Given the description of an element on the screen output the (x, y) to click on. 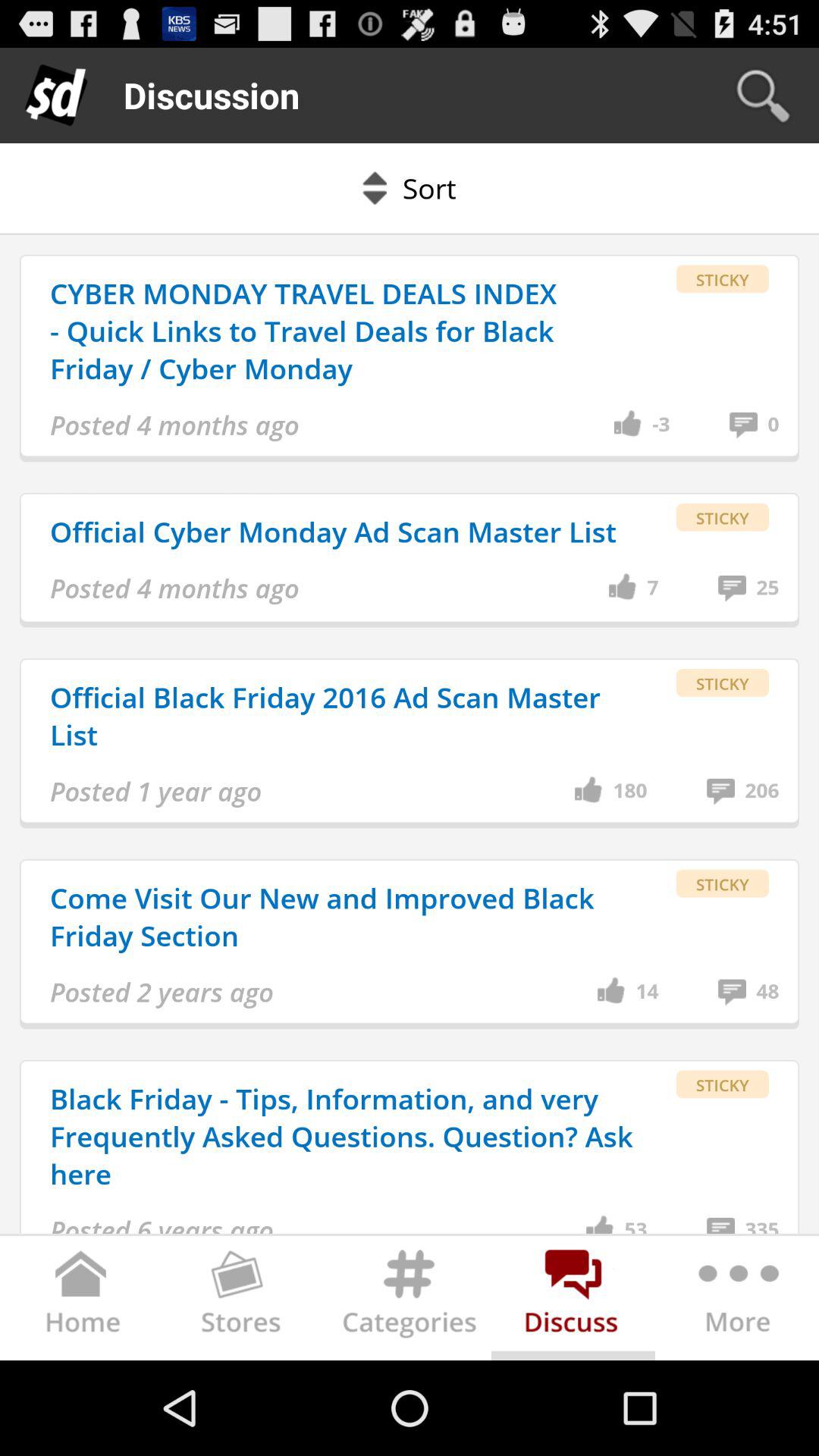
select categories (409, 1301)
